Given the description of an element on the screen output the (x, y) to click on. 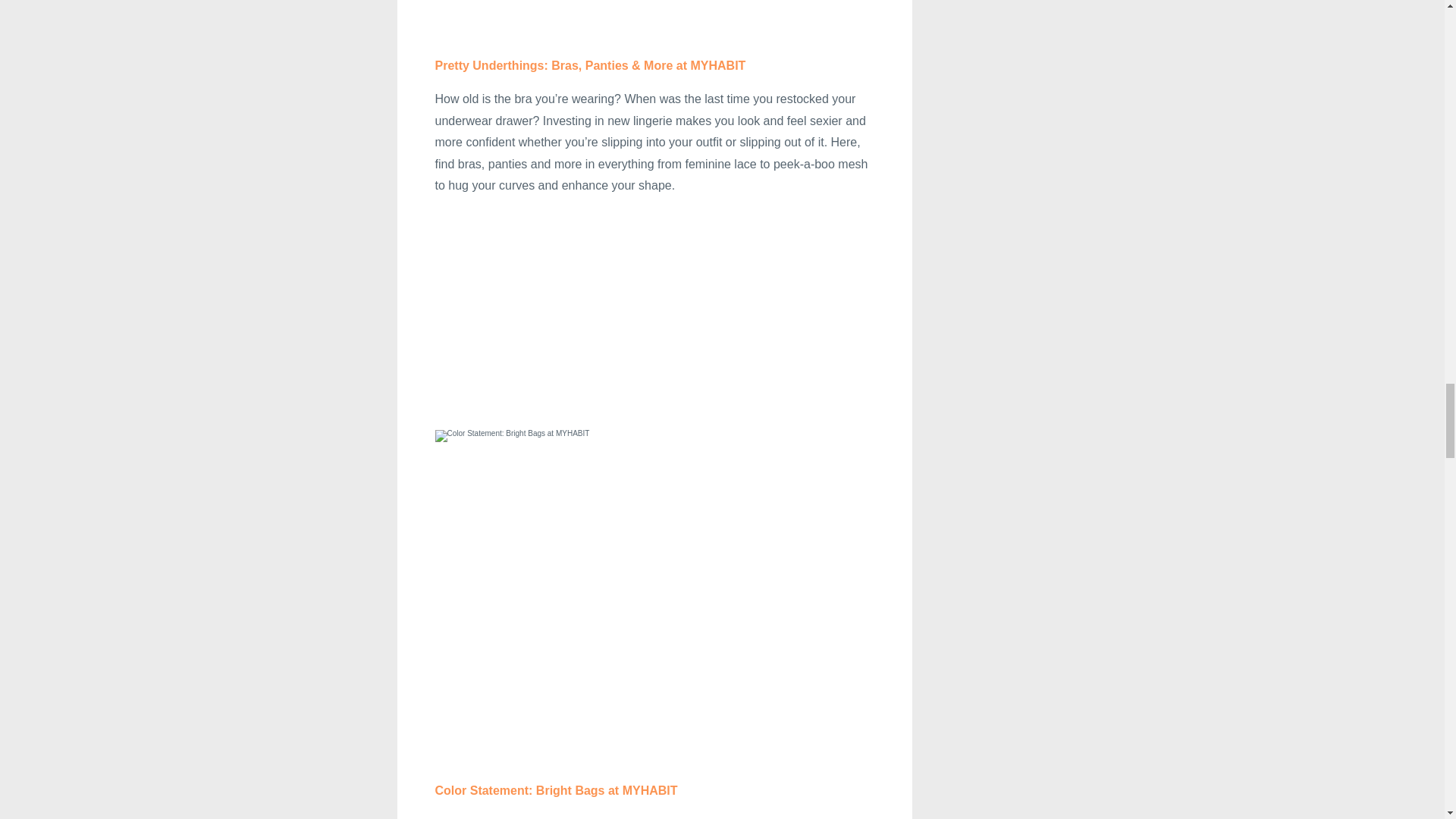
Color Statement: Bright Bags at MYHABIT (556, 789)
Color Statement: Bright Bags at MYHABIT (556, 789)
